Given the description of an element on the screen output the (x, y) to click on. 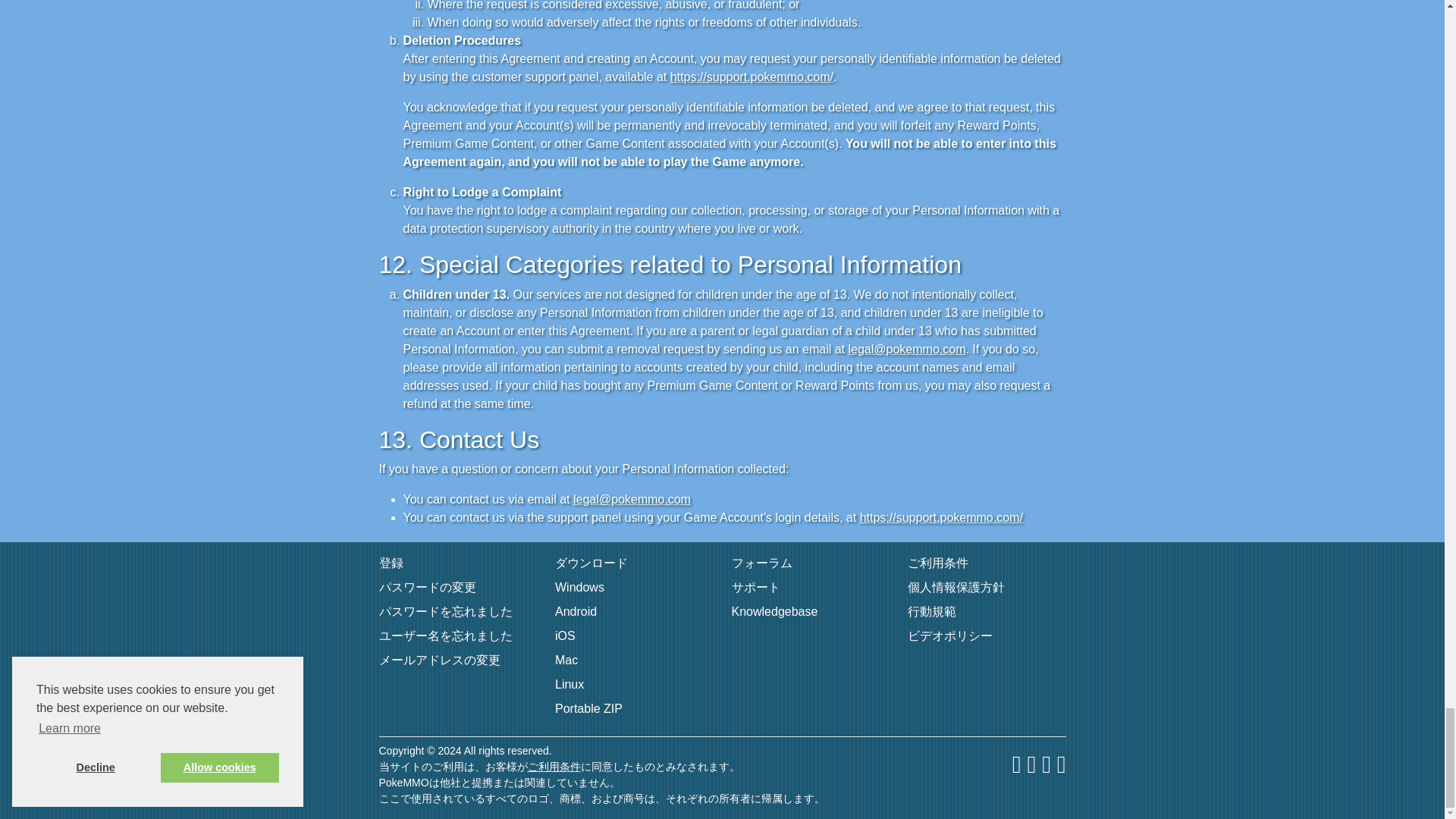
Follow us on Twitter (1030, 765)
Subscribe to our Reddit (1061, 765)
Like us on Facebook (1016, 765)
Join our Discord (1046, 765)
